Given the description of an element on the screen output the (x, y) to click on. 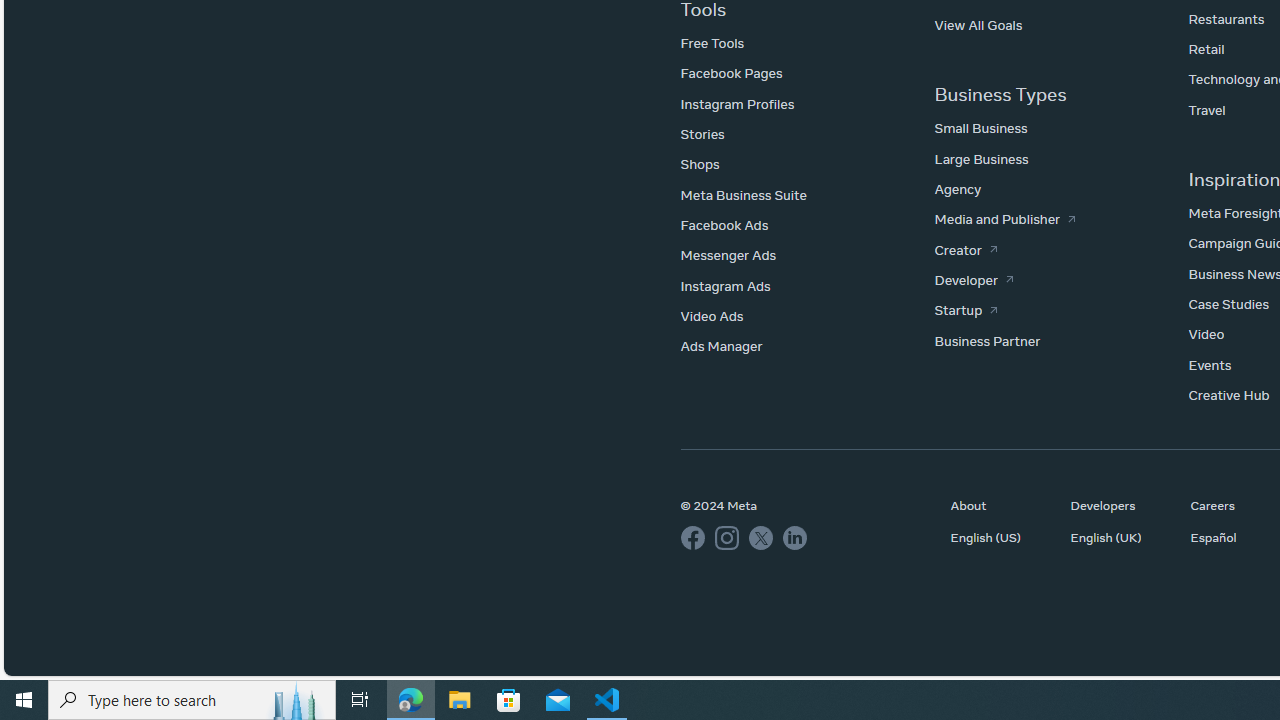
About (1000, 505)
Ads Manager (720, 345)
Case Studies (1228, 304)
Video Ads (711, 316)
English (UK) (1120, 537)
Startup (966, 309)
Developers (1120, 505)
Creator (965, 249)
Creative Hub (1228, 395)
